Given the description of an element on the screen output the (x, y) to click on. 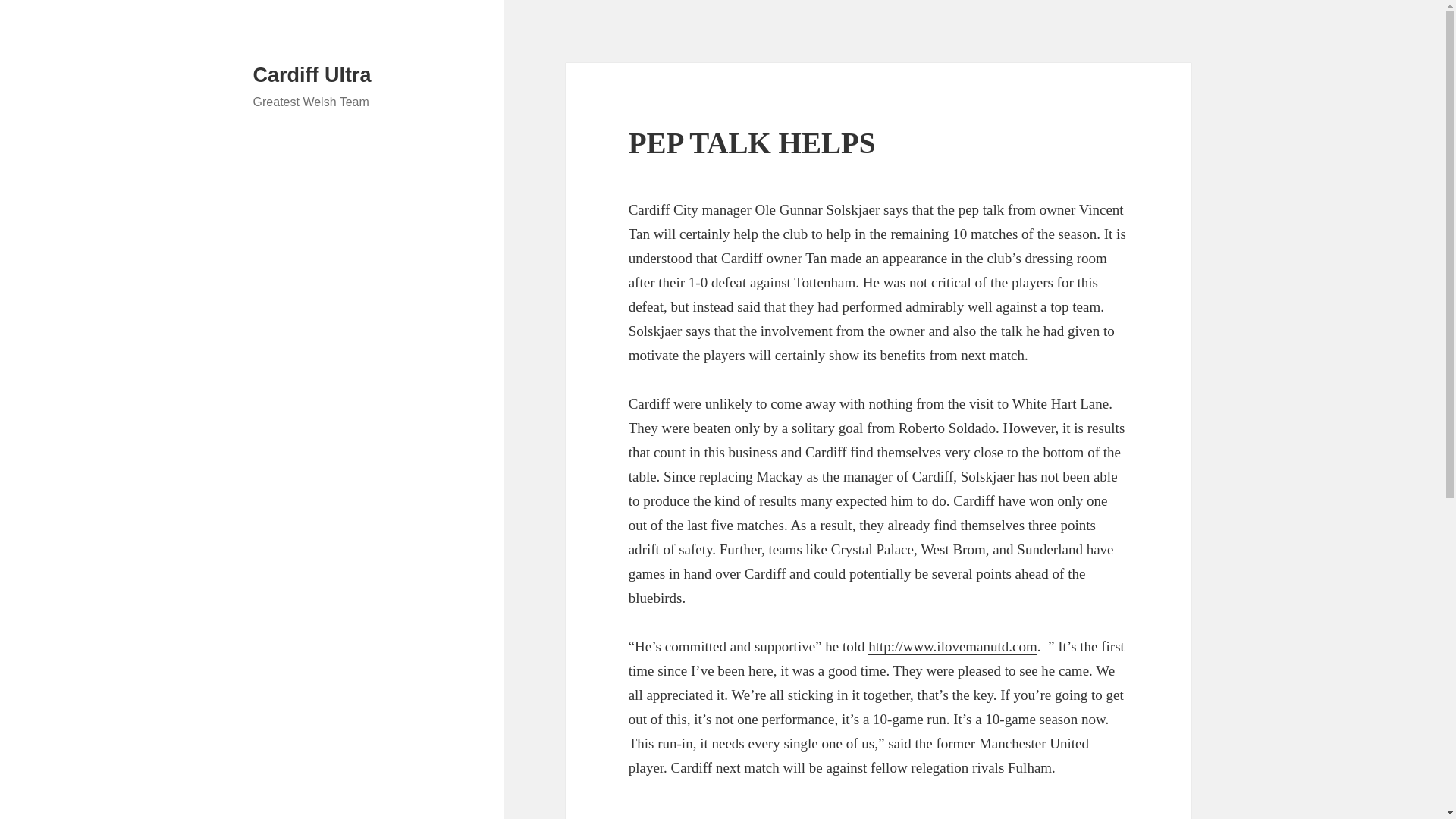
Cardiff Ultra (312, 74)
